Given the description of an element on the screen output the (x, y) to click on. 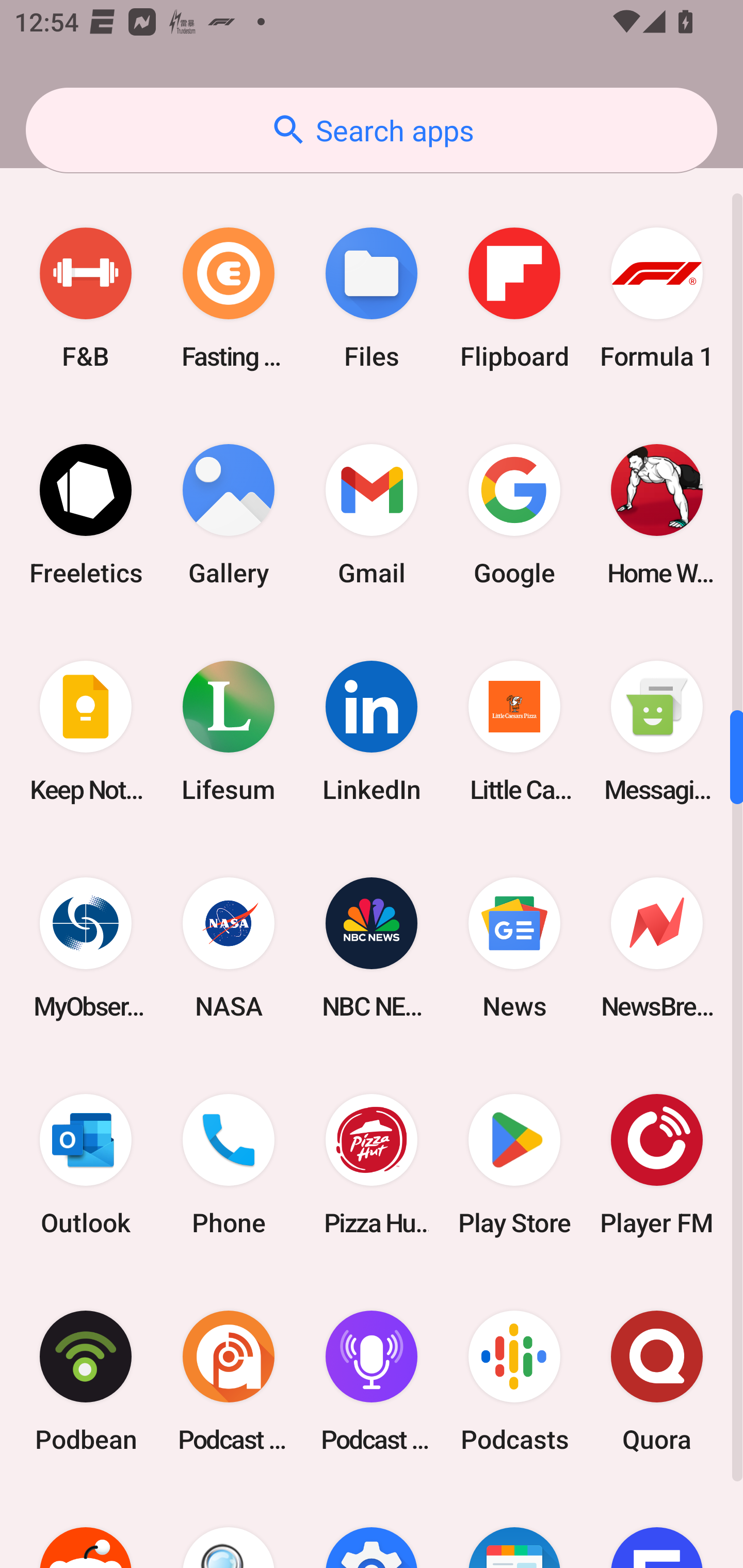
  Search apps (371, 130)
F&B (85, 297)
Fasting Coach (228, 297)
Files (371, 297)
Flipboard (514, 297)
Formula 1 (656, 297)
Freeletics (85, 514)
Gallery (228, 514)
Gmail (371, 514)
Google (514, 514)
Home Workout (656, 514)
Keep Notes (85, 731)
Lifesum (228, 731)
LinkedIn (371, 731)
Little Caesars Pizza (514, 731)
Messaging (656, 731)
MyObservatory (85, 948)
NASA (228, 948)
NBC NEWS (371, 948)
News (514, 948)
NewsBreak (656, 948)
Outlook (85, 1164)
Phone (228, 1164)
Pizza Hut HK & Macau (371, 1164)
Play Store (514, 1164)
Player FM (656, 1164)
Podbean (85, 1381)
Podcast Addict (228, 1381)
Podcast Player (371, 1381)
Podcasts (514, 1381)
Quora (656, 1381)
